Given the description of an element on the screen output the (x, y) to click on. 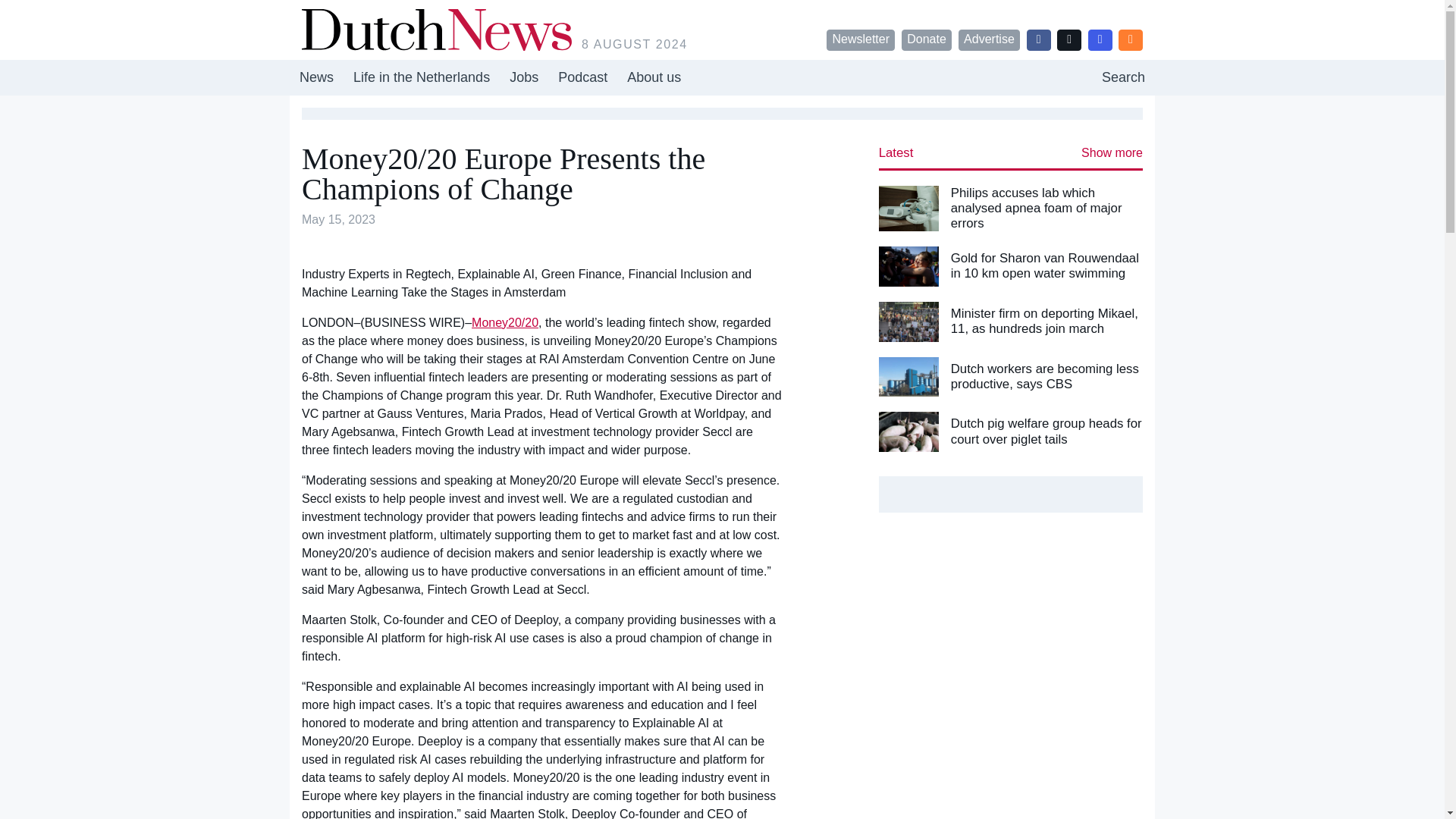
Donate (926, 39)
News (316, 77)
hidden-in-footer (523, 77)
Advertise (989, 39)
Newsletter (861, 39)
About us (721, 77)
Life in the Netherlands (653, 77)
hidden-in-footer (421, 77)
Podcast (1123, 77)
